Given the description of an element on the screen output the (x, y) to click on. 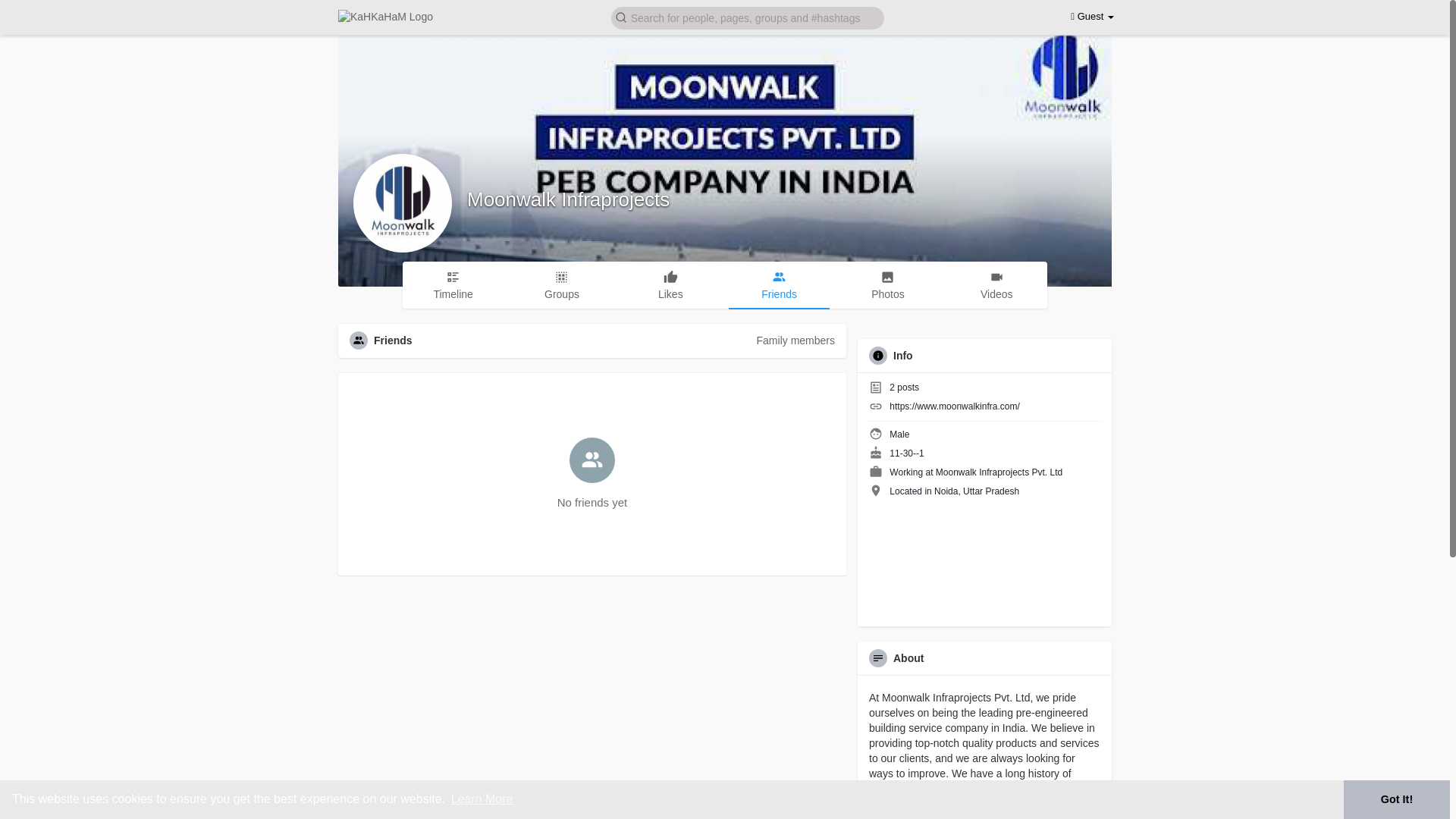
Photos (887, 284)
Moonwalk Infraprojects (568, 199)
Groups (561, 284)
Likes (670, 284)
Friends (779, 285)
Learn More (481, 798)
Timeline (453, 284)
Family members (795, 340)
Guest (1091, 17)
Videos (996, 284)
